Given the description of an element on the screen output the (x, y) to click on. 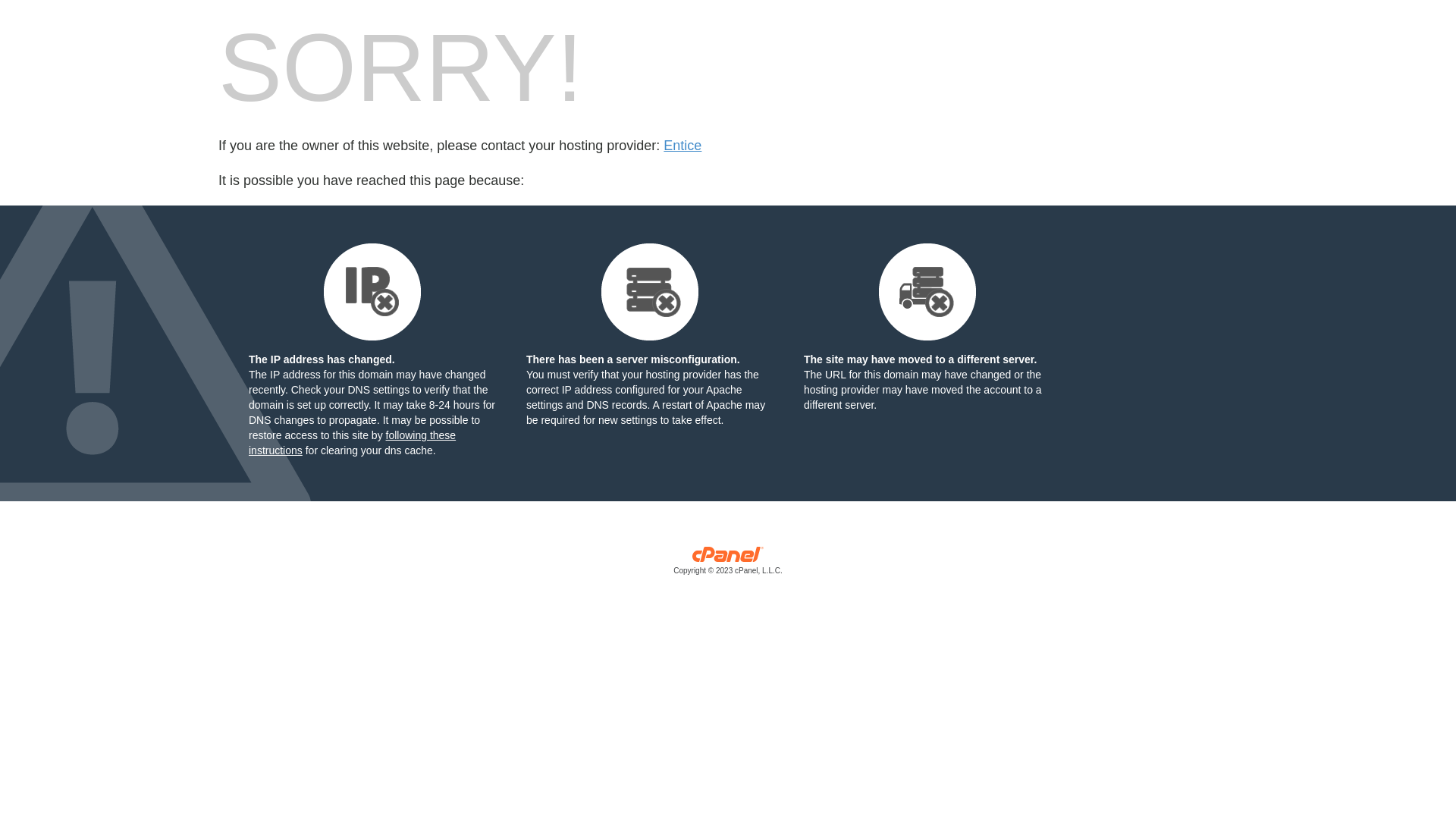
following these instructions Element type: text (351, 442)
Entice Element type: text (682, 145)
